Given the description of an element on the screen output the (x, y) to click on. 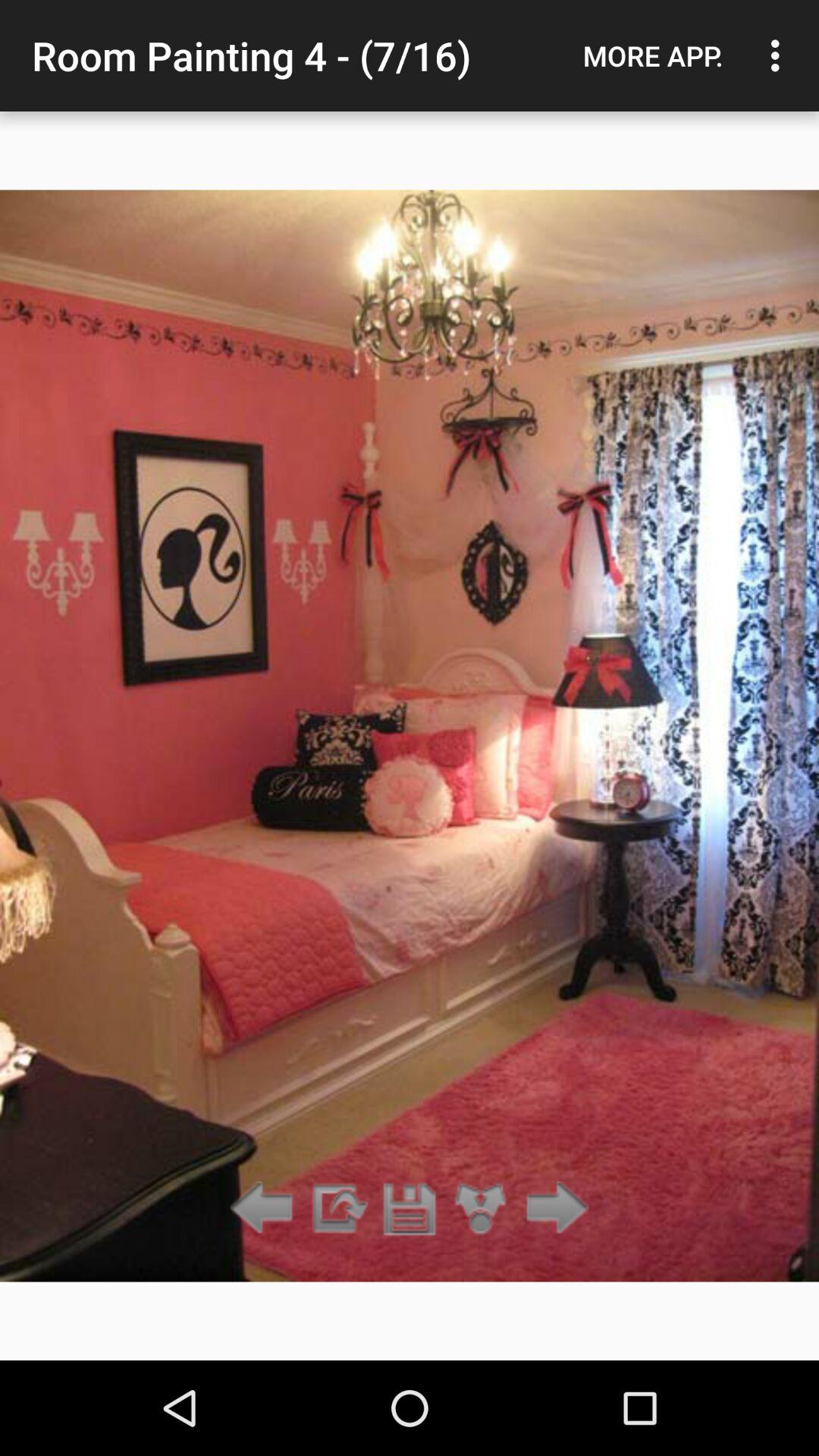
tap item next to the more app. item (779, 55)
